Given the description of an element on the screen output the (x, y) to click on. 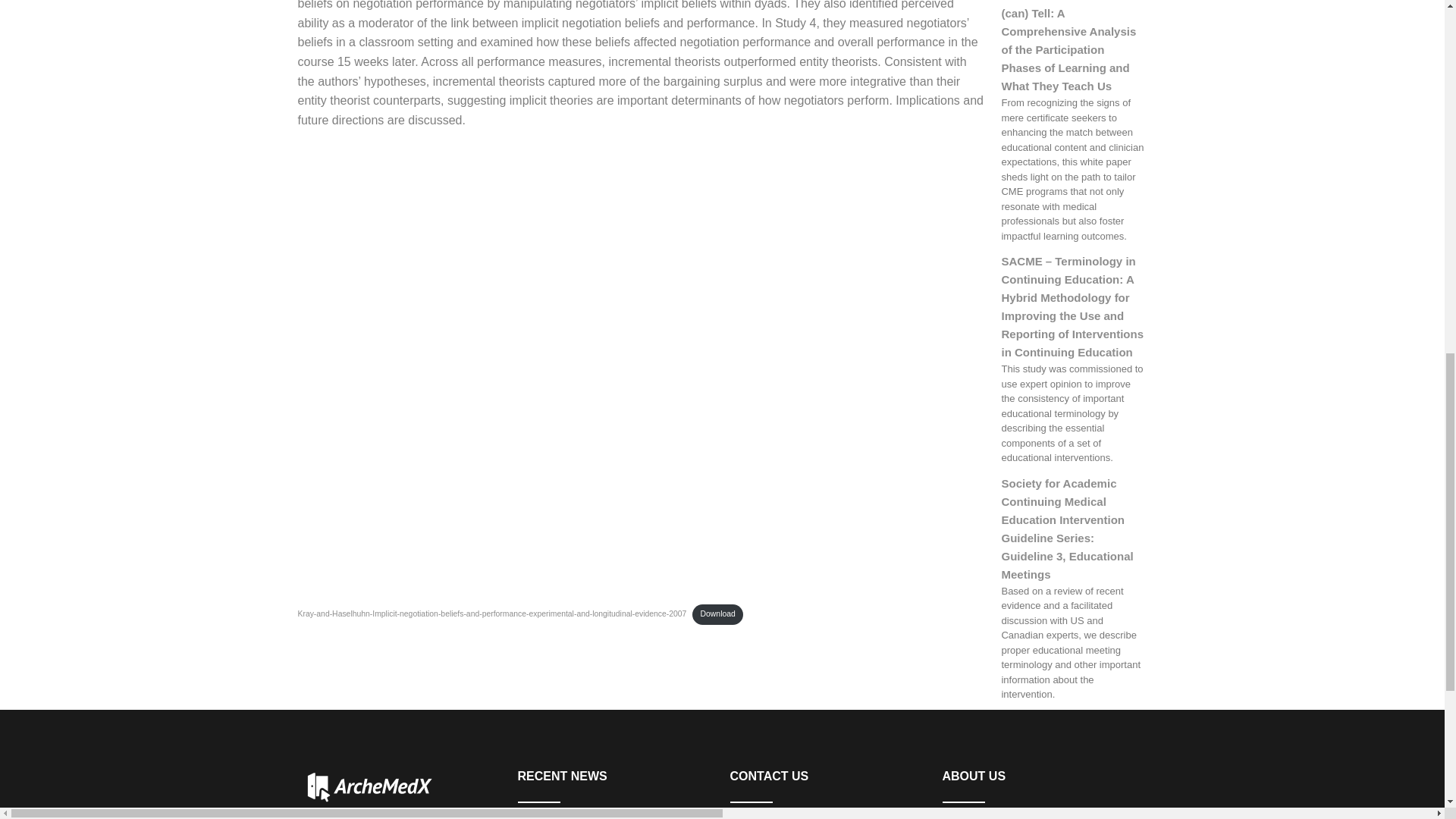
Download (717, 614)
